Given the description of an element on the screen output the (x, y) to click on. 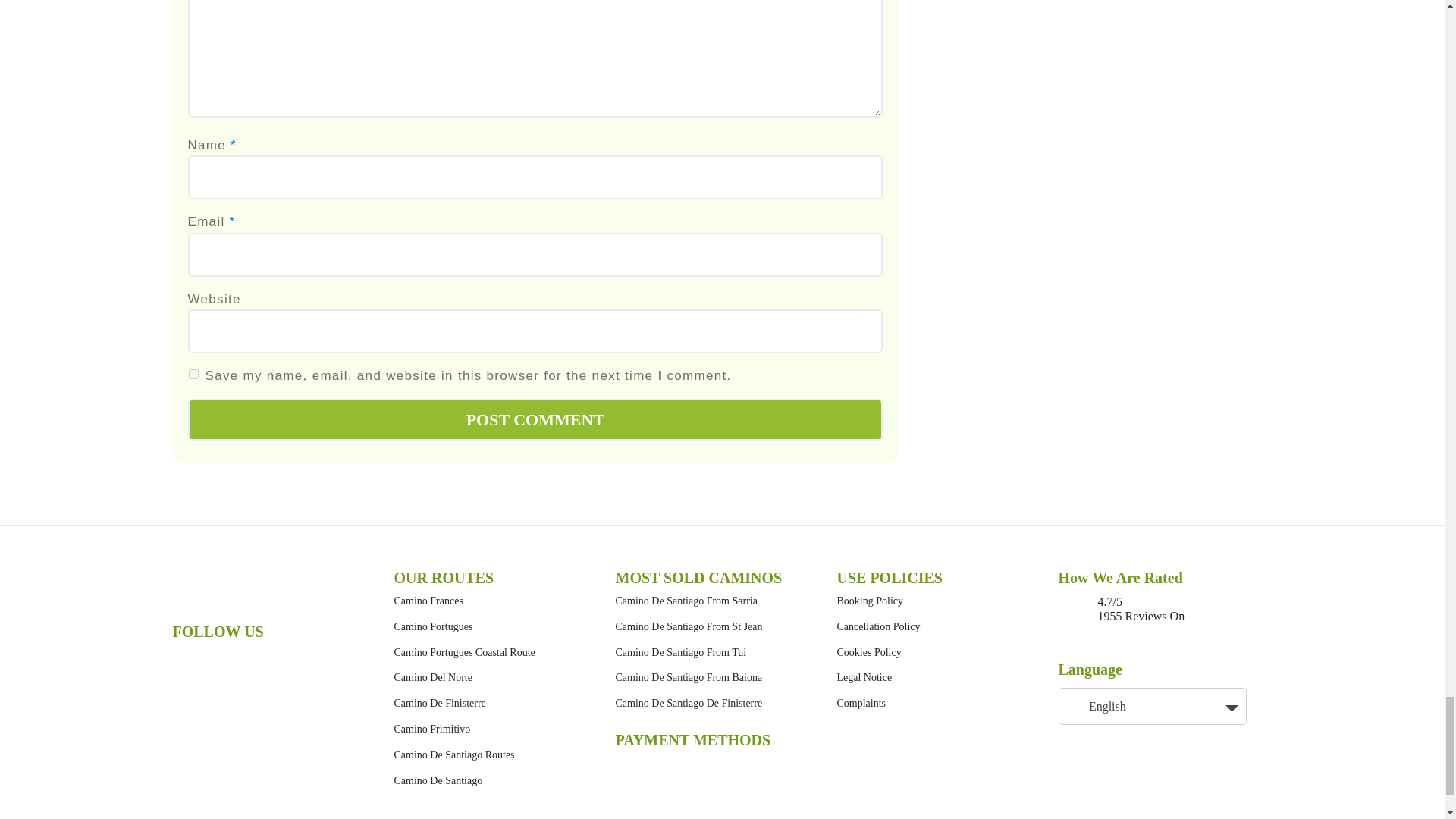
yes (193, 374)
Post Comment (535, 419)
